Given the description of an element on the screen output the (x, y) to click on. 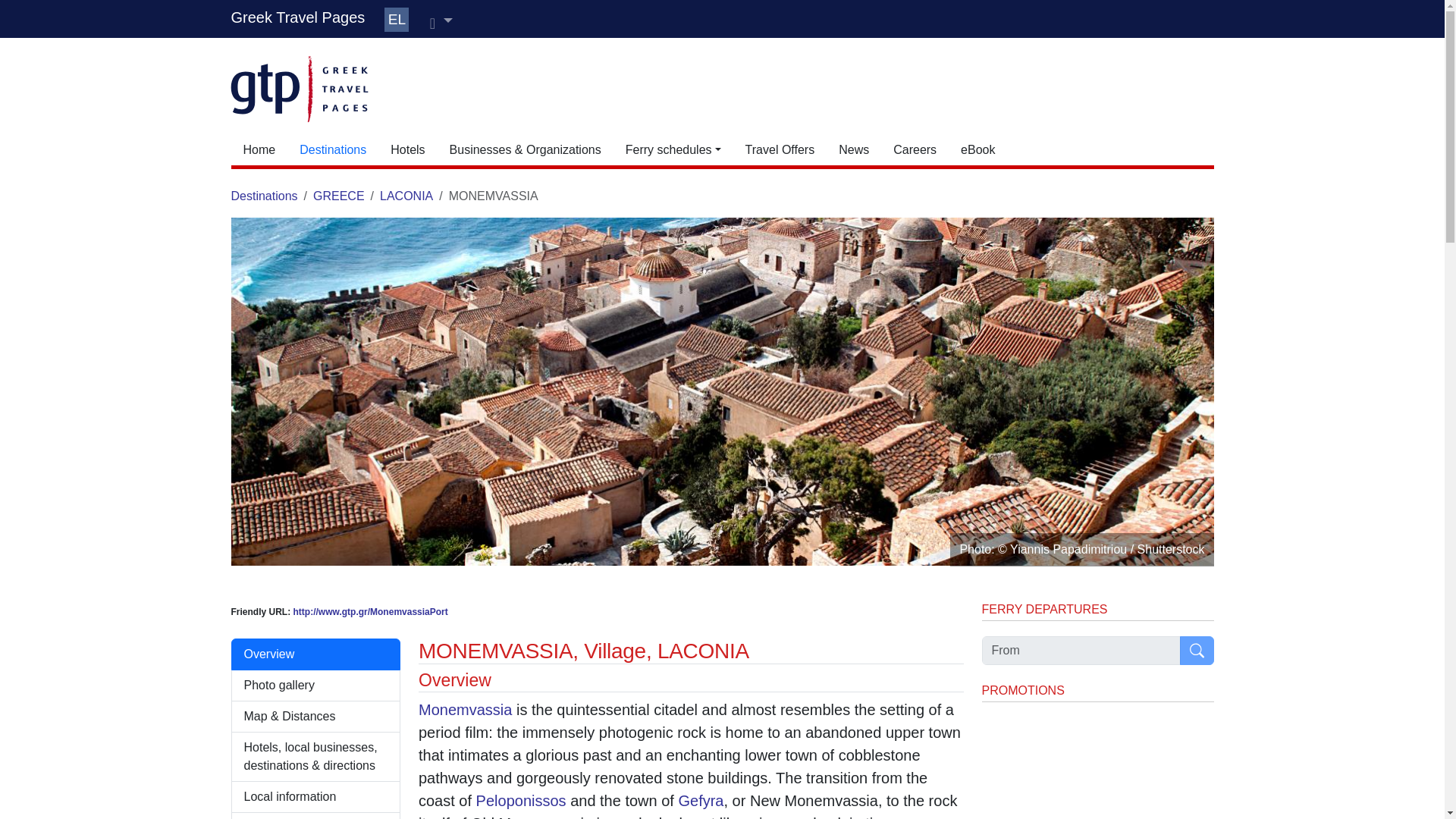
Hotels (407, 150)
EL (396, 19)
Greek Travel Pages (297, 16)
User menu (440, 21)
Destinations (332, 150)
Home (258, 150)
Ferry schedules (672, 150)
